Given the description of an element on the screen output the (x, y) to click on. 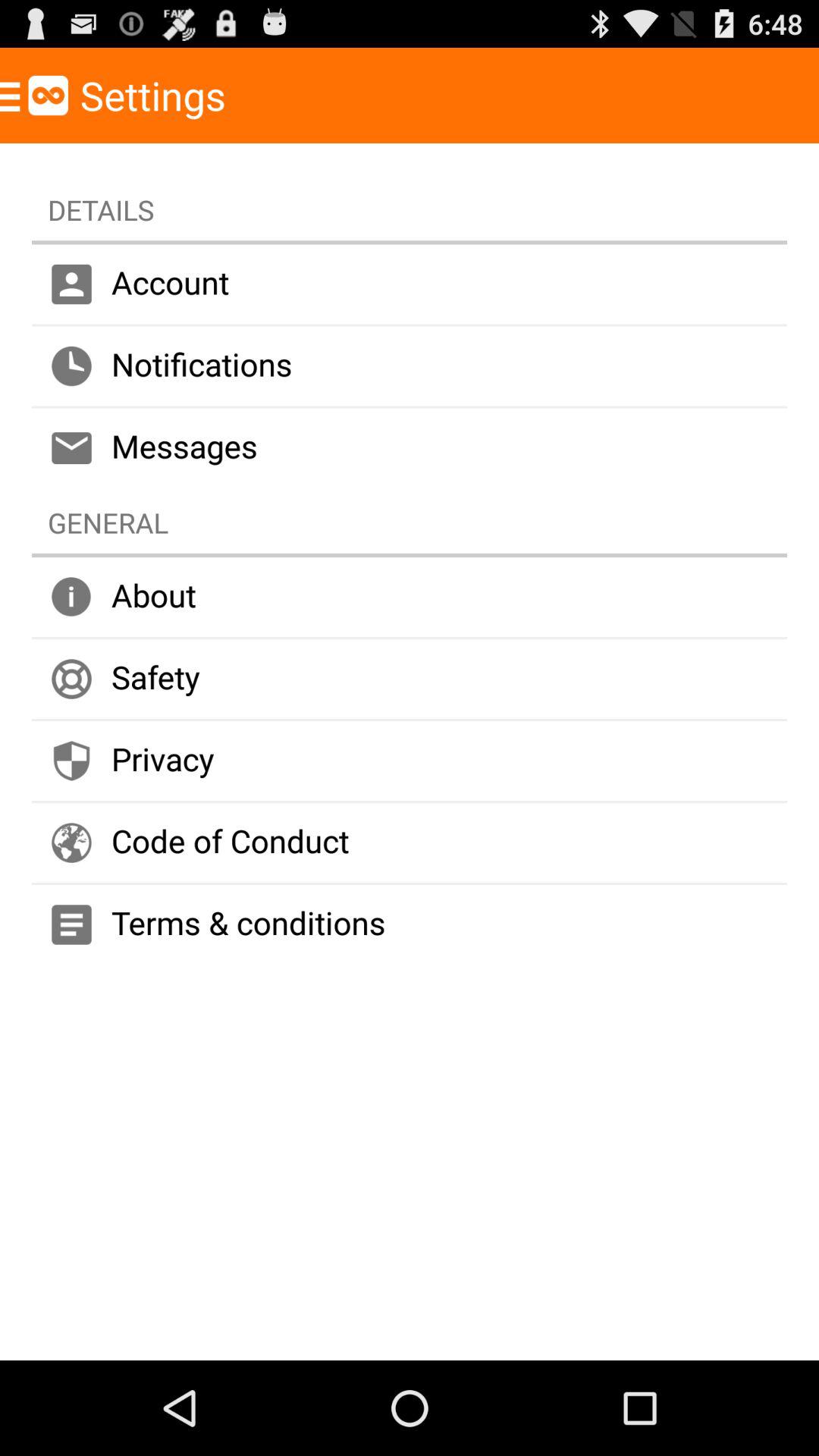
swipe until terms & conditions icon (409, 924)
